Given the description of an element on the screen output the (x, y) to click on. 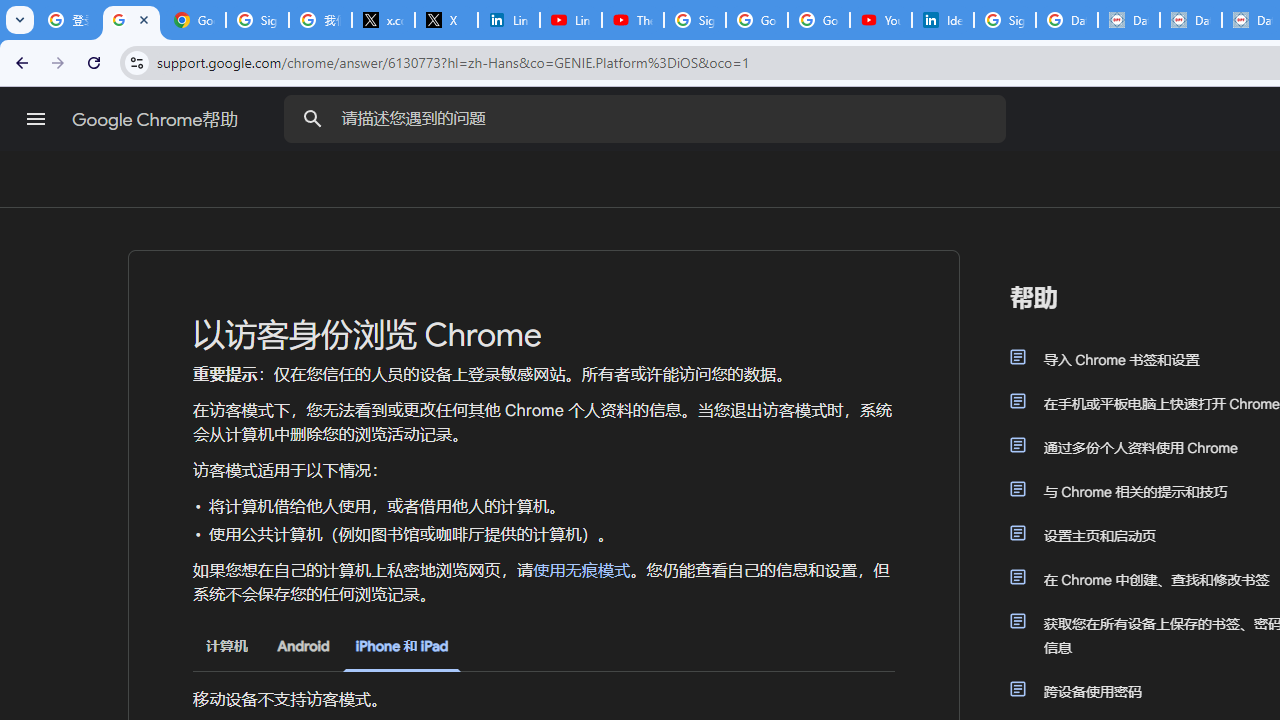
LinkedIn - YouTube (570, 20)
